Given the description of an element on the screen output the (x, y) to click on. 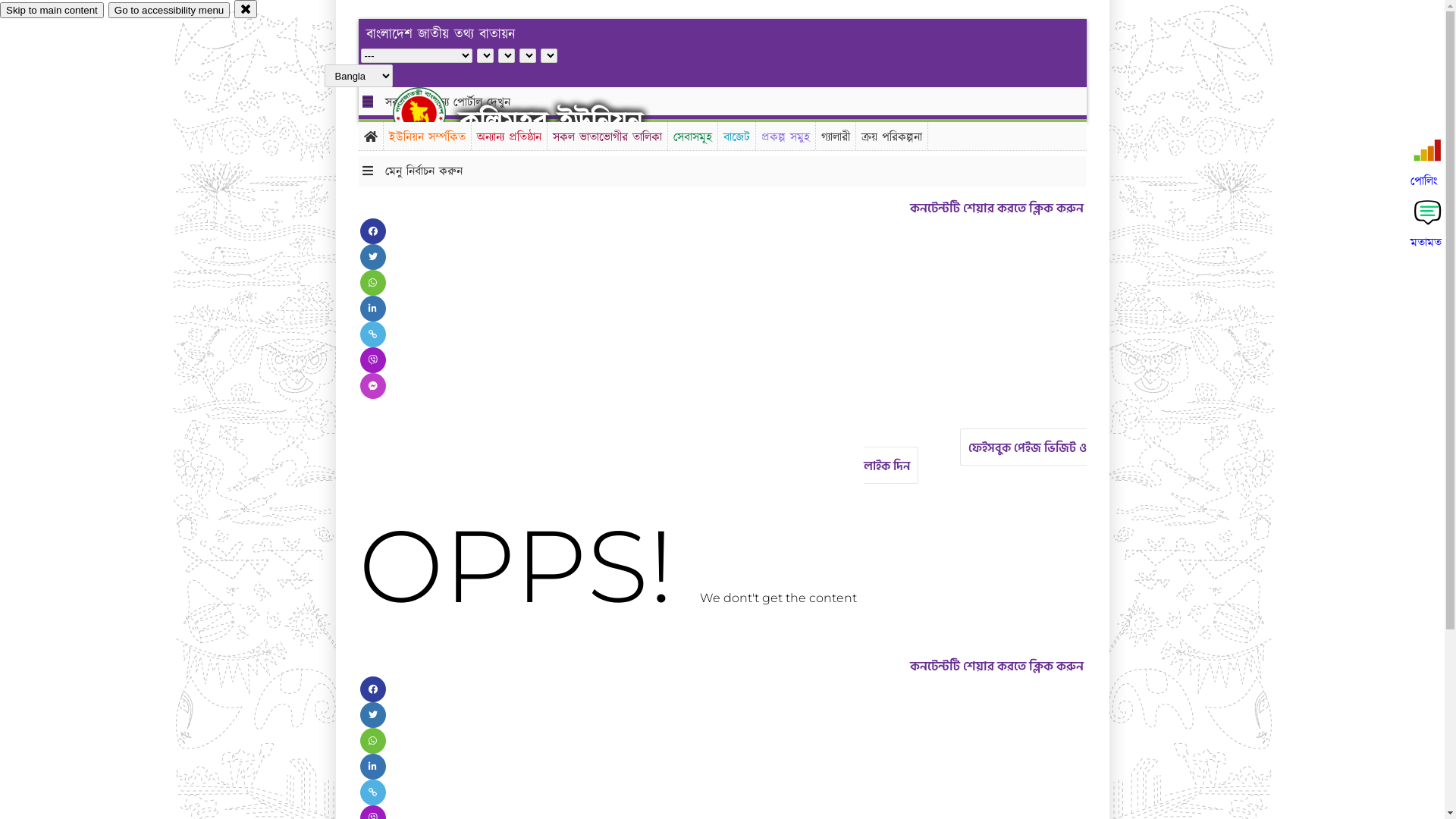

                
             Element type: hover (431, 112)
Go to accessibility menu Element type: text (168, 10)
Skip to main content Element type: text (51, 10)
close Element type: hover (245, 9)
